Given the description of an element on the screen output the (x, y) to click on. 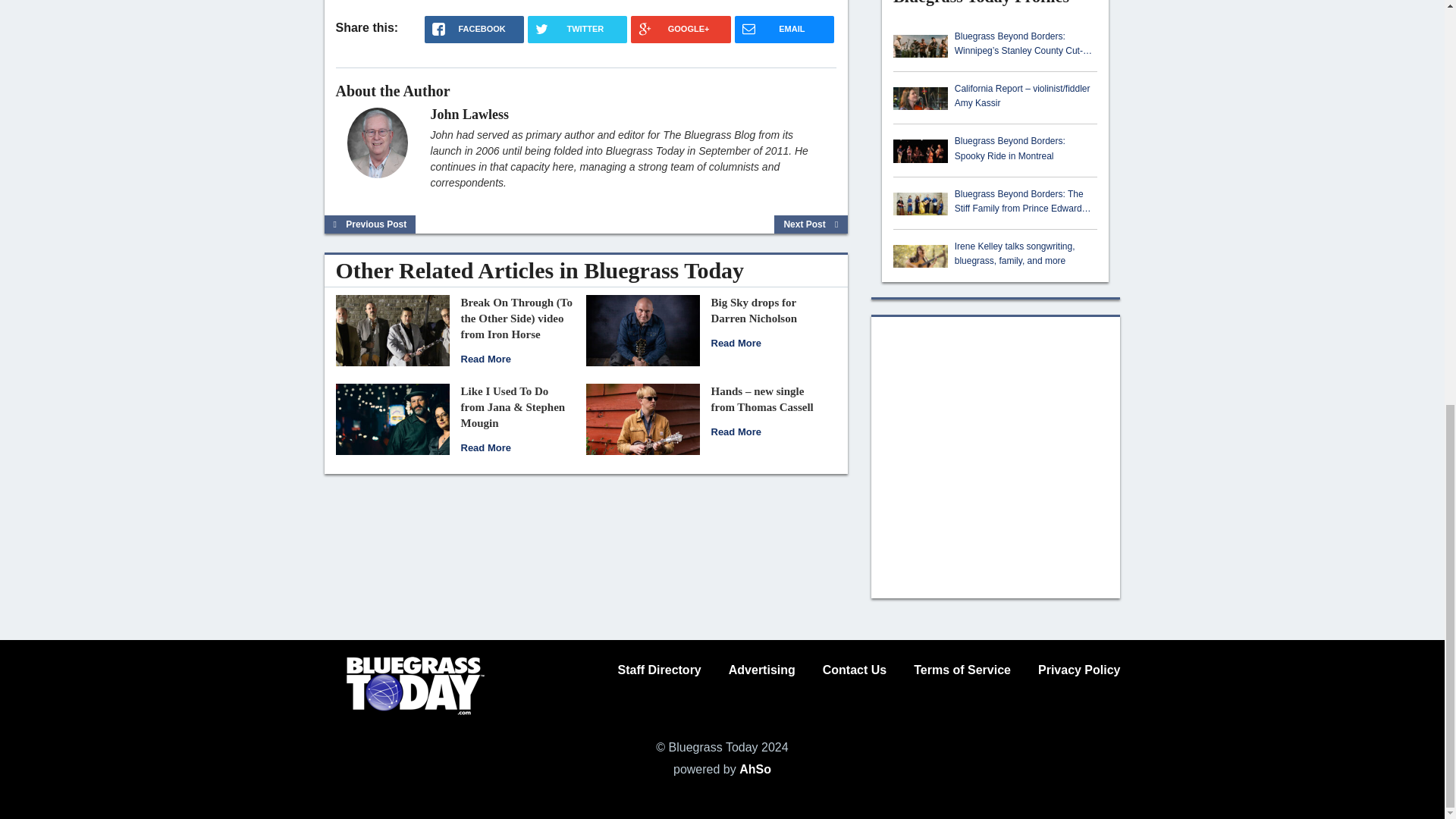
Big Sky drops for Darren Nicholson (753, 310)
Big Sky drops for Darren Nicholson (736, 342)
FACEBOOK (474, 29)
EMAIL (784, 29)
TWITTER (577, 29)
Big Sky drops for Darren Nicholson (641, 328)
